Given the description of an element on the screen output the (x, y) to click on. 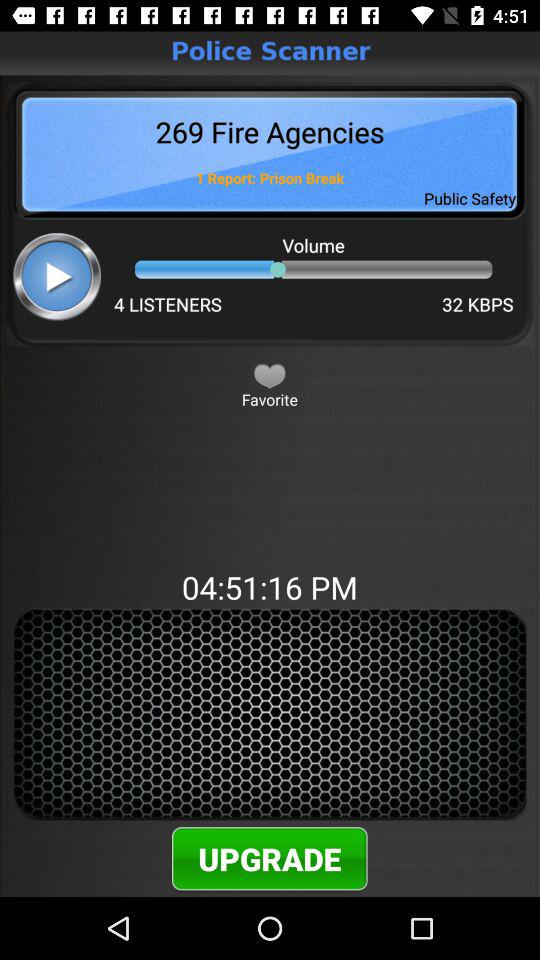
mark as favorite (269, 375)
